Given the description of an element on the screen output the (x, y) to click on. 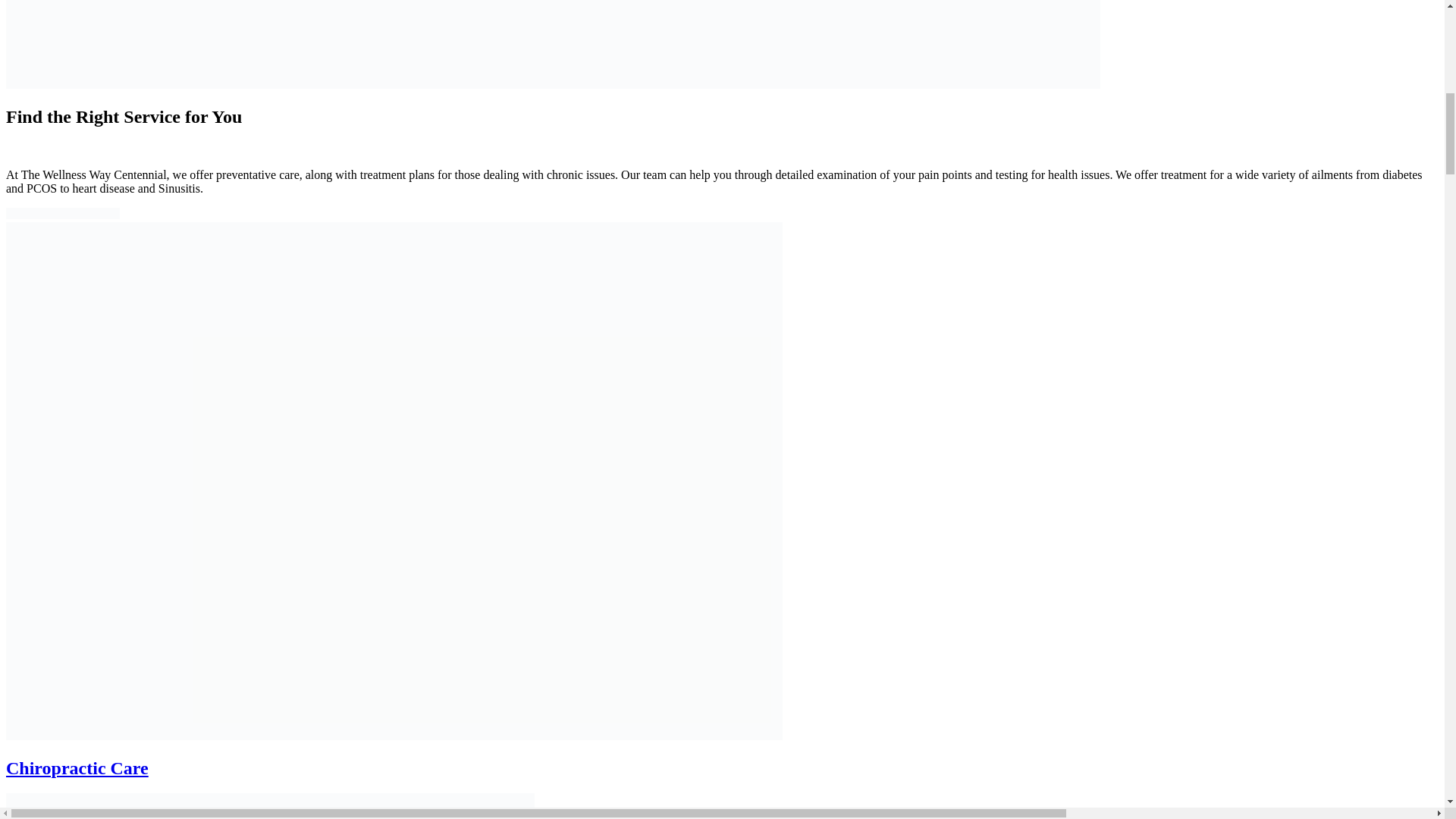
White Transition Image (552, 44)
cropped-cropped-Screen-Shot-2021-10-26-at-9.31.50-AM-1-1 (62, 213)
